Given the description of an element on the screen output the (x, y) to click on. 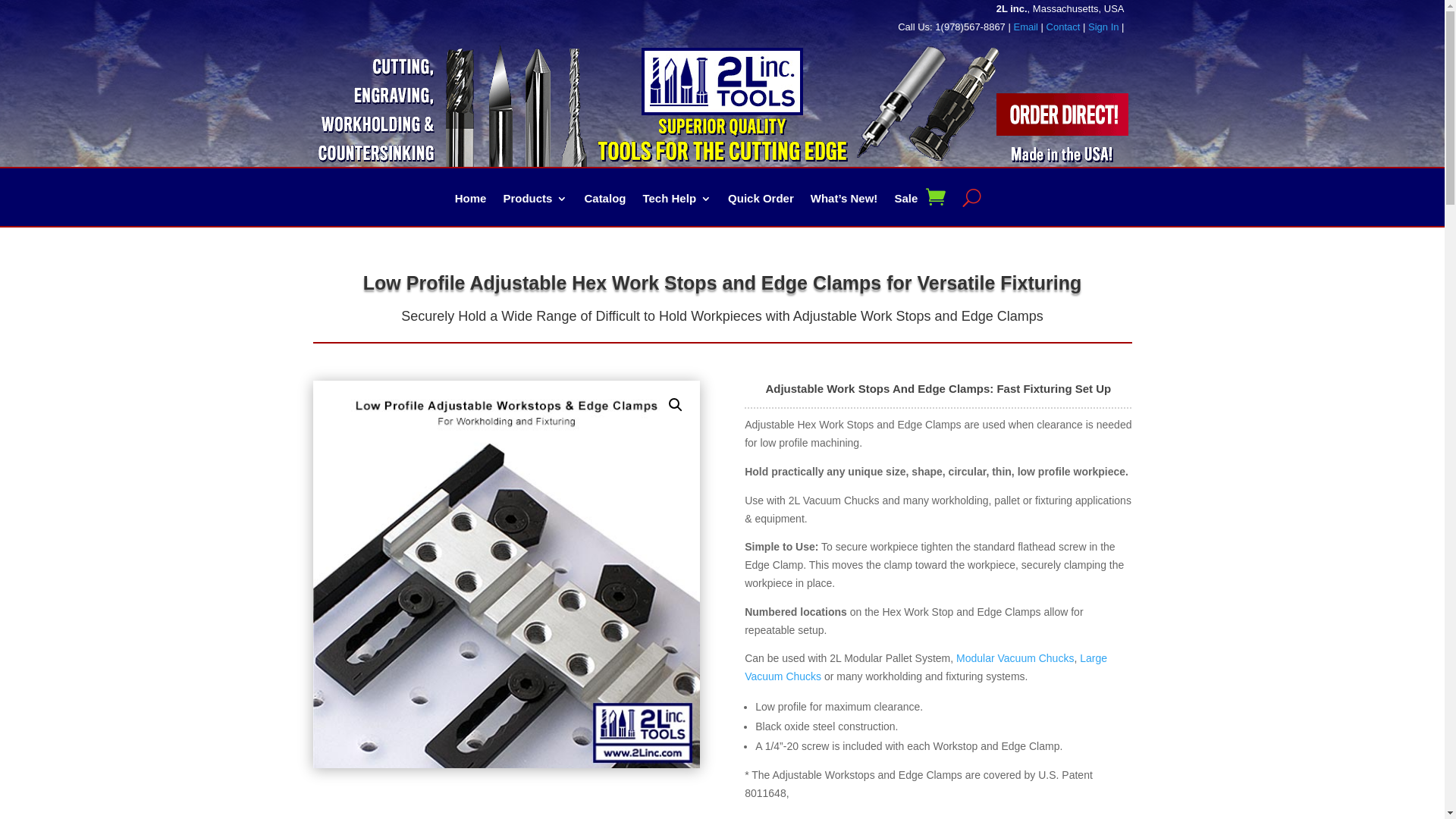
Quick Order Element type: text (760, 209)
Large Vacuum Chucks Element type: text (925, 667)
Sale Element type: text (905, 209)
Home Element type: text (470, 209)
Contact Element type: text (1063, 26)
Adjustable Workstops & Edge Clamps Element type: hover (505, 573)
Products Element type: text (534, 209)
Email Element type: text (1025, 26)
2L inc. www.2Linc.com Element type: hover (722, 81)
Catalog Element type: text (604, 209)
Sign In Element type: text (1103, 26)
Modular Vacuum Chucks Element type: text (1014, 658)
Tech Help Element type: text (676, 209)
